Given the description of an element on the screen output the (x, y) to click on. 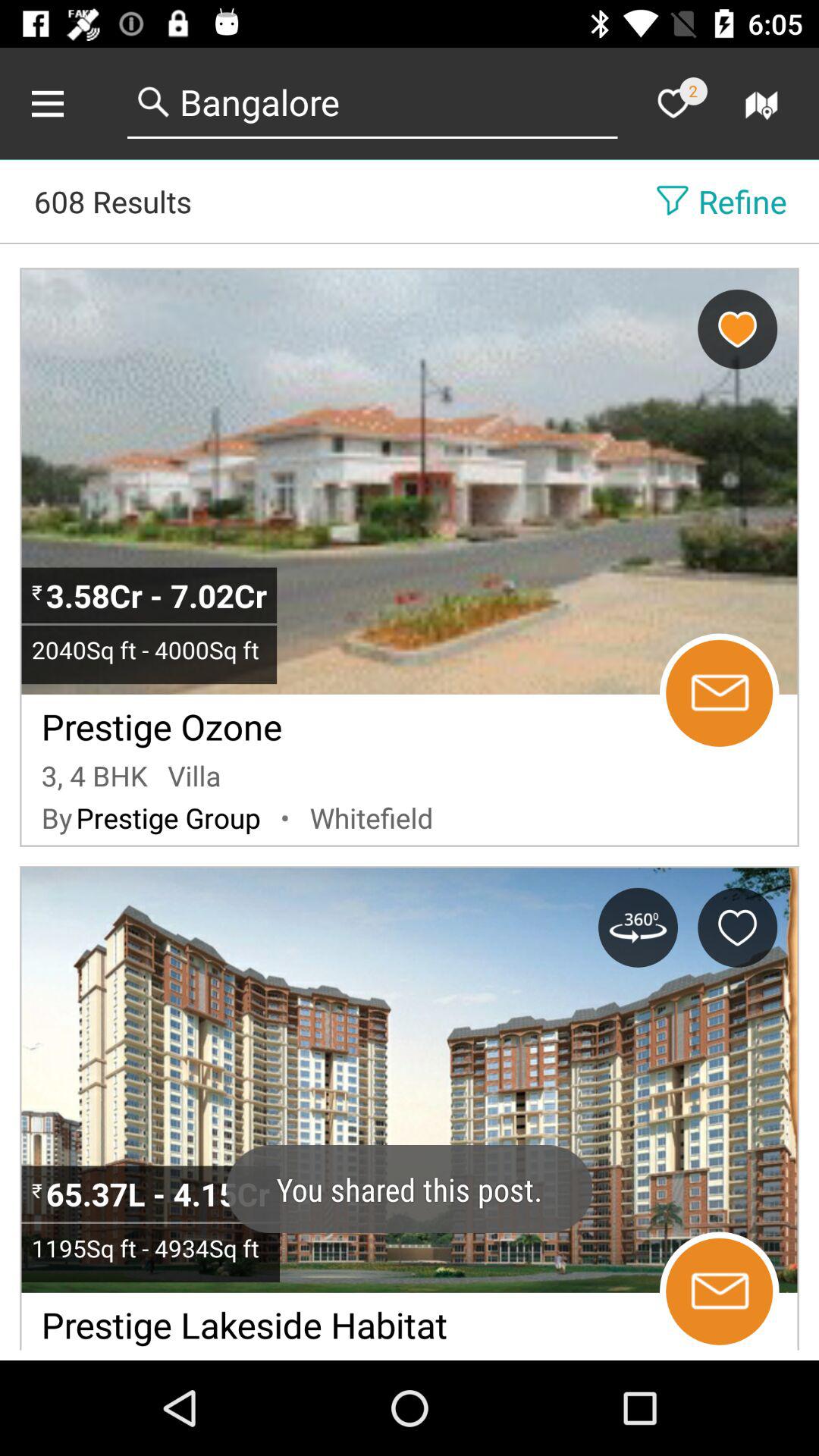
email property manager (719, 1291)
